Given the description of an element on the screen output the (x, y) to click on. 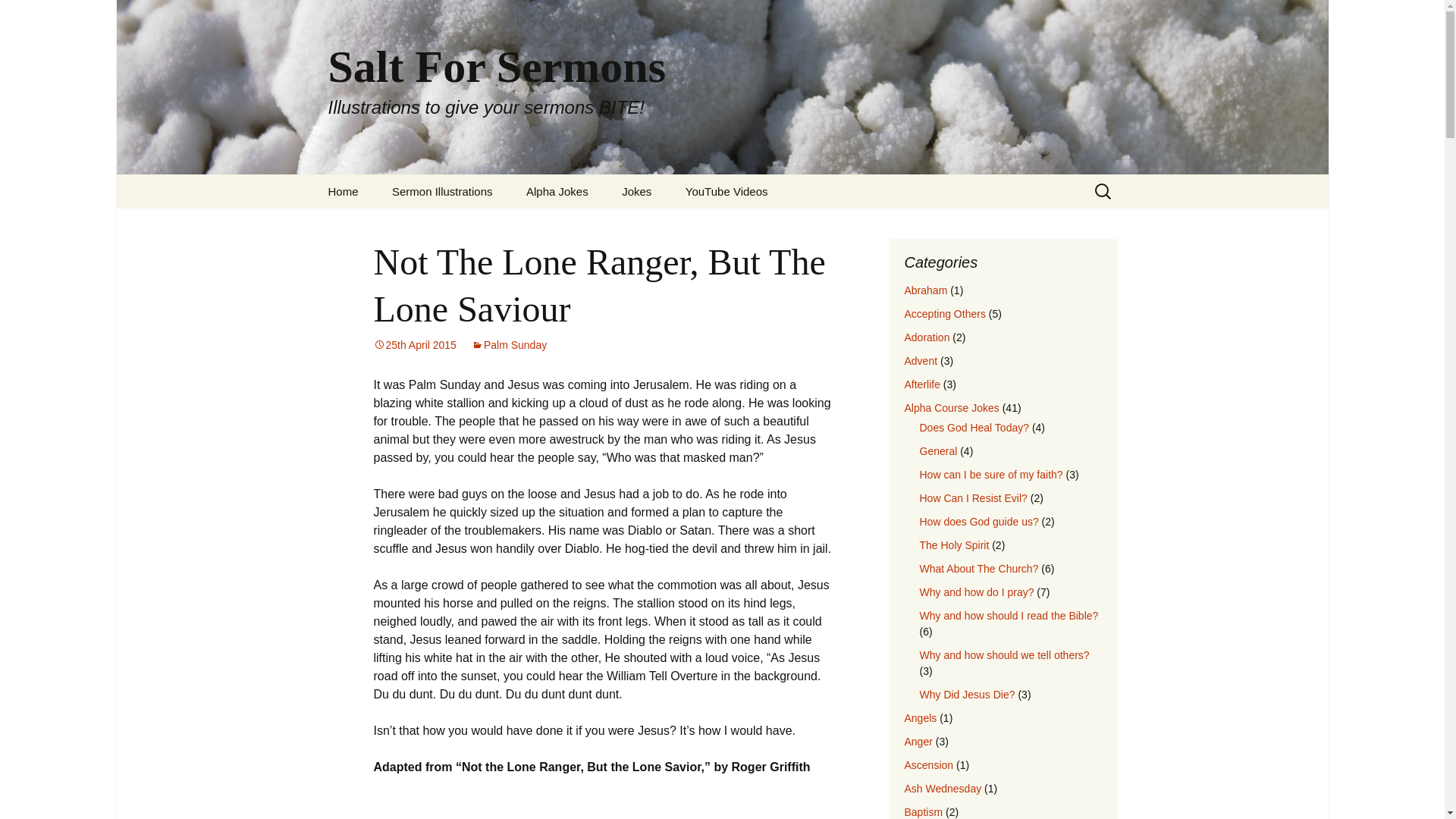
Alpha Course Jokes (951, 408)
Anger (917, 741)
Why and how should we tell others? (1003, 654)
Why Did Jesus Die? (966, 694)
General (937, 451)
25th April 2015 (413, 345)
How Can I Resist Evil? (972, 498)
Ash Wednesday (942, 788)
Permalink to Not The Lone Ranger, But The Lone Saviour (413, 345)
Why and how should I read the Bible? (1007, 615)
Search (18, 15)
Home (342, 191)
Abraham (925, 290)
YouTube Videos (726, 191)
Ascension (928, 765)
